Given the description of an element on the screen output the (x, y) to click on. 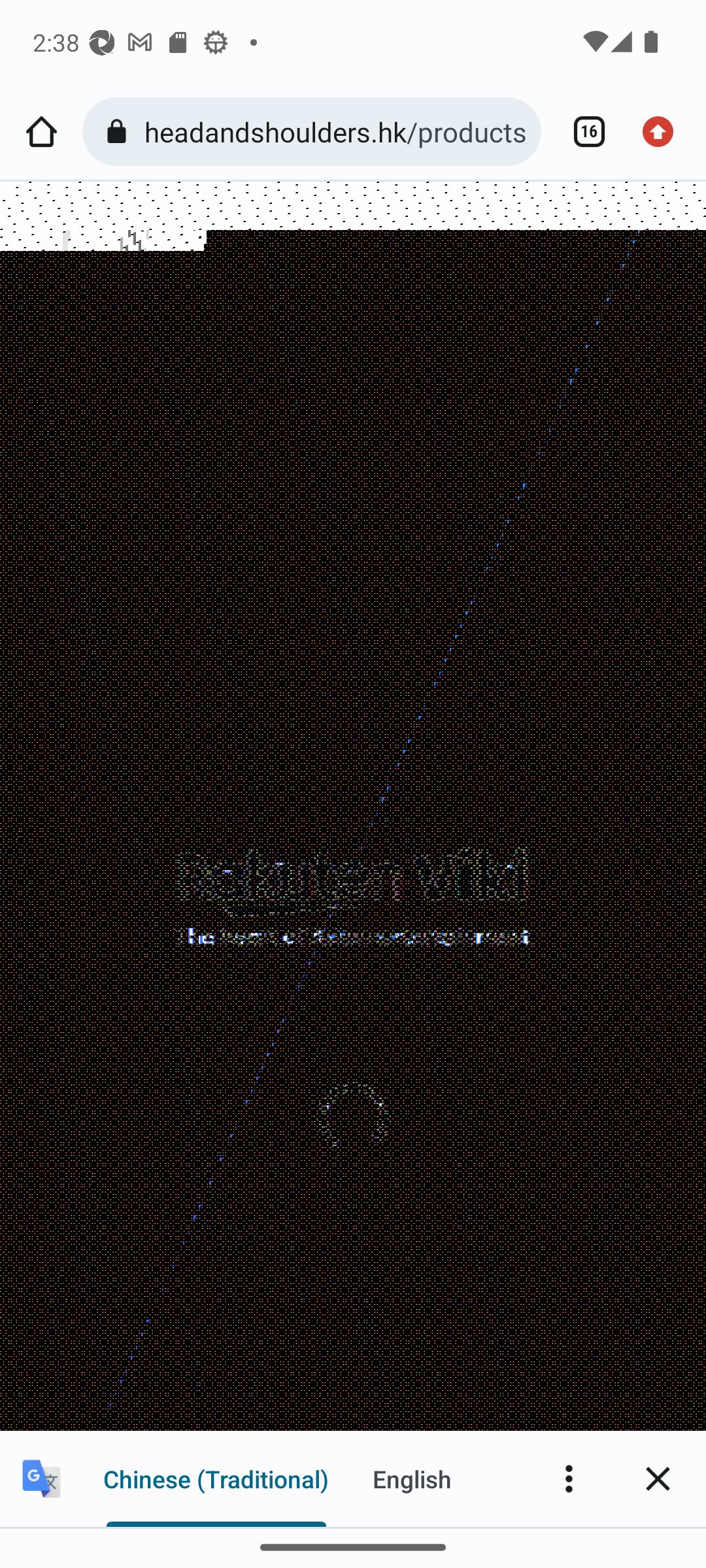
Home (41, 131)
Connection is secure (120, 131)
Switch or close tabs (582, 131)
Update available. More options (664, 131)
English (411, 1478)
More options (568, 1478)
Close (657, 1478)
